Given the description of an element on the screen output the (x, y) to click on. 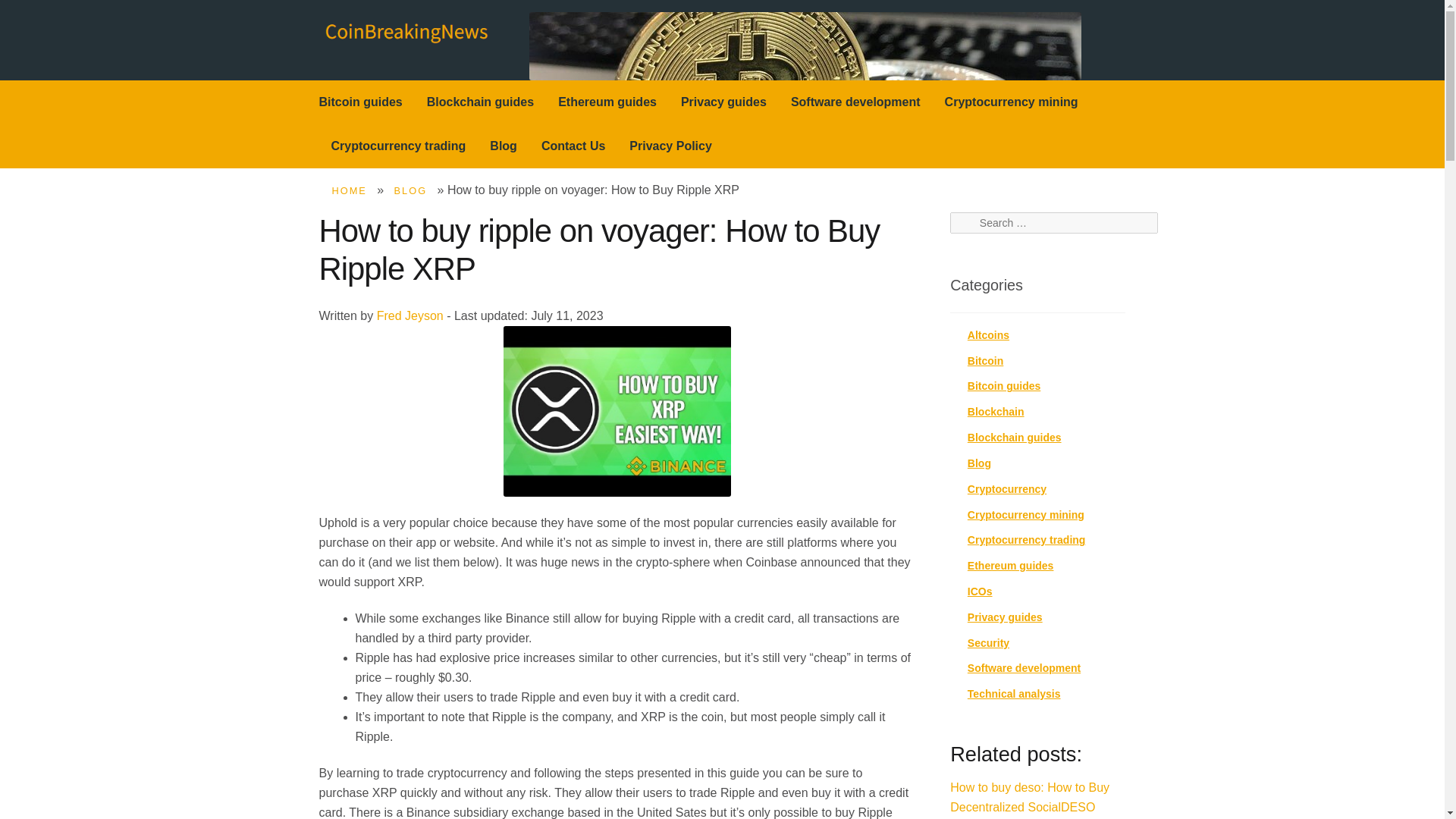
Fred Jeyson (410, 315)
Blog (503, 146)
Search (972, 223)
Bitcoin guides (1004, 386)
BLOG (411, 191)
Security (988, 643)
Bitcoin guides (360, 102)
Altcoins (988, 335)
ICOs (980, 591)
Ethereum guides (1011, 565)
Cryptocurrency trading (1027, 539)
Software development (1024, 667)
Bitcoin (985, 360)
Blockchain (996, 411)
